Given the description of an element on the screen output the (x, y) to click on. 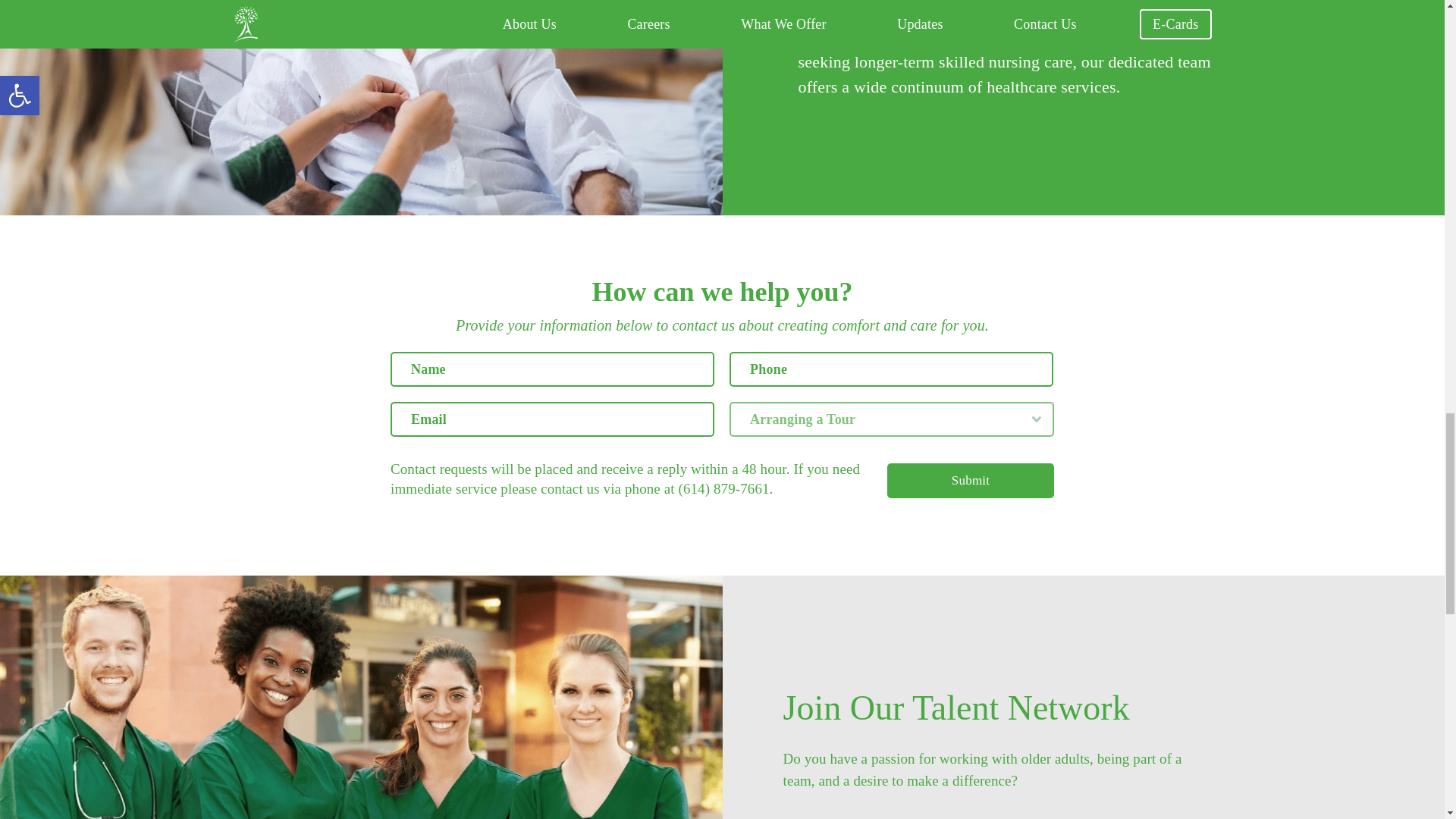
Submit (970, 480)
